Given the description of an element on the screen output the (x, y) to click on. 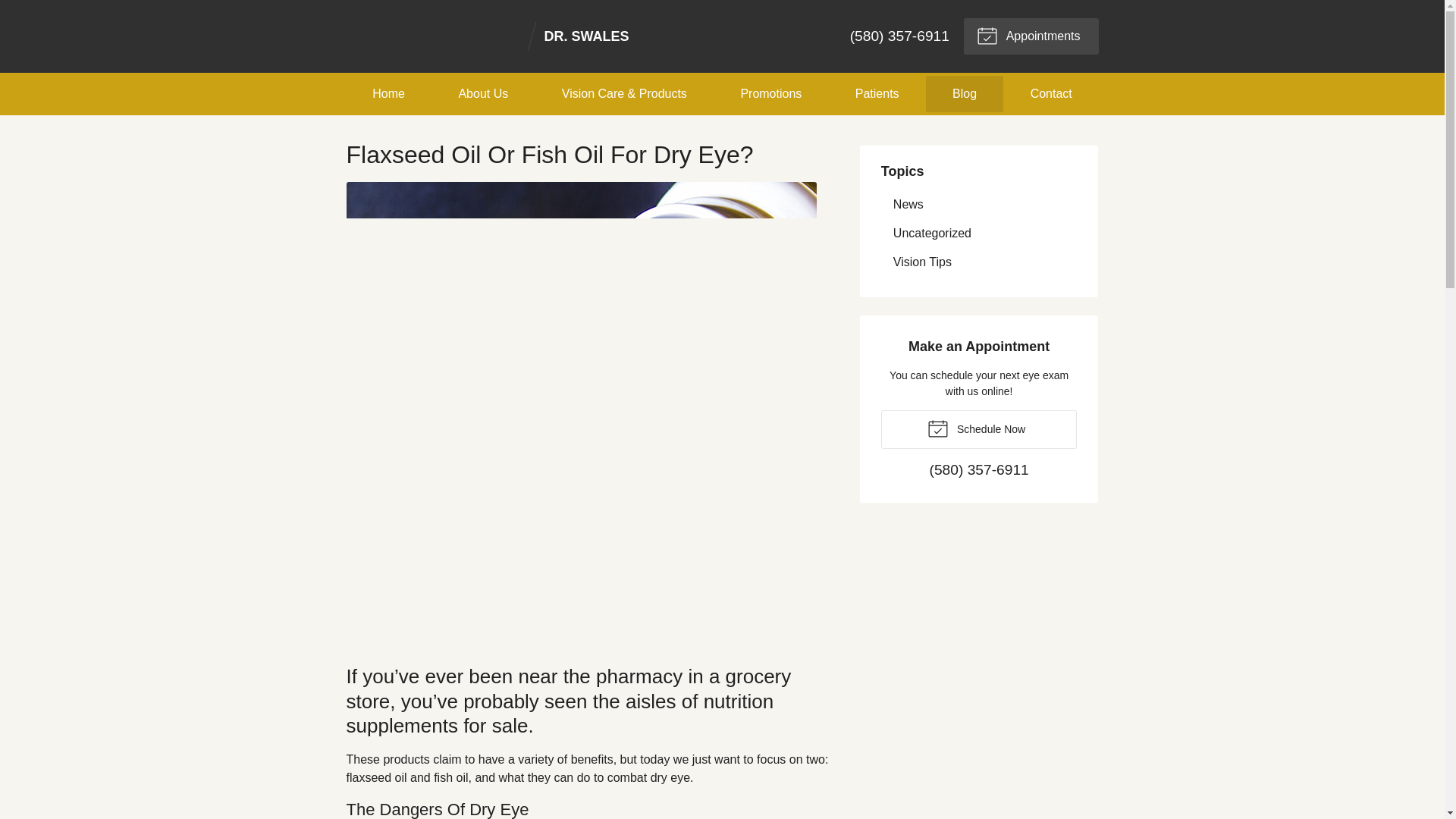
Call practice (899, 35)
Blog (964, 94)
Request Appointment (1030, 36)
Call practice (979, 470)
Home (388, 94)
Promotions (771, 94)
About Us (483, 94)
Vision Tips (978, 262)
Uncategorized (487, 36)
Schedule Now (978, 233)
Schedule Now (978, 429)
News (978, 429)
Appointments (978, 204)
Patients (1030, 36)
